Given the description of an element on the screen output the (x, y) to click on. 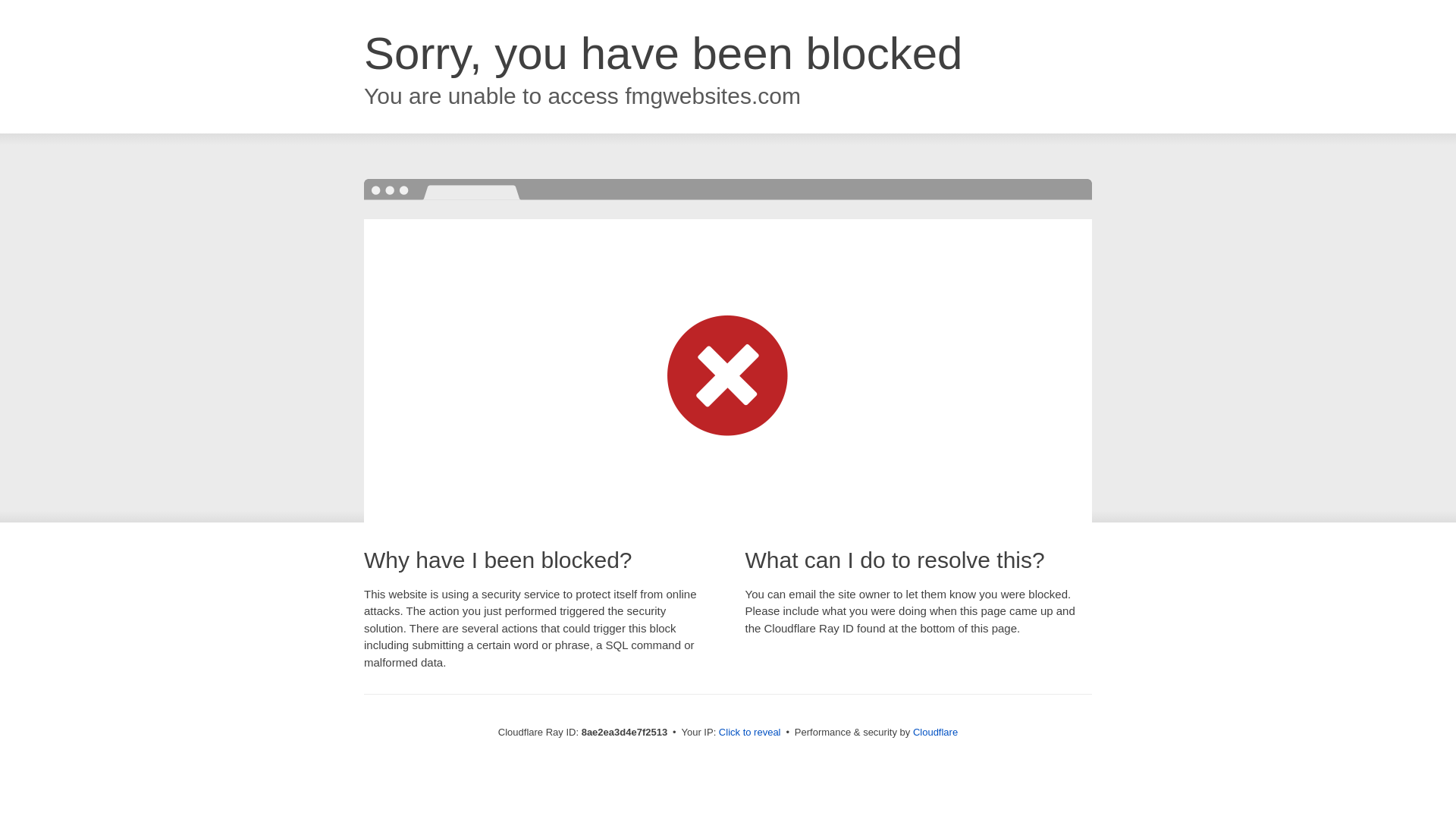
Cloudflare (935, 731)
Click to reveal (749, 732)
